Given the description of an element on the screen output the (x, y) to click on. 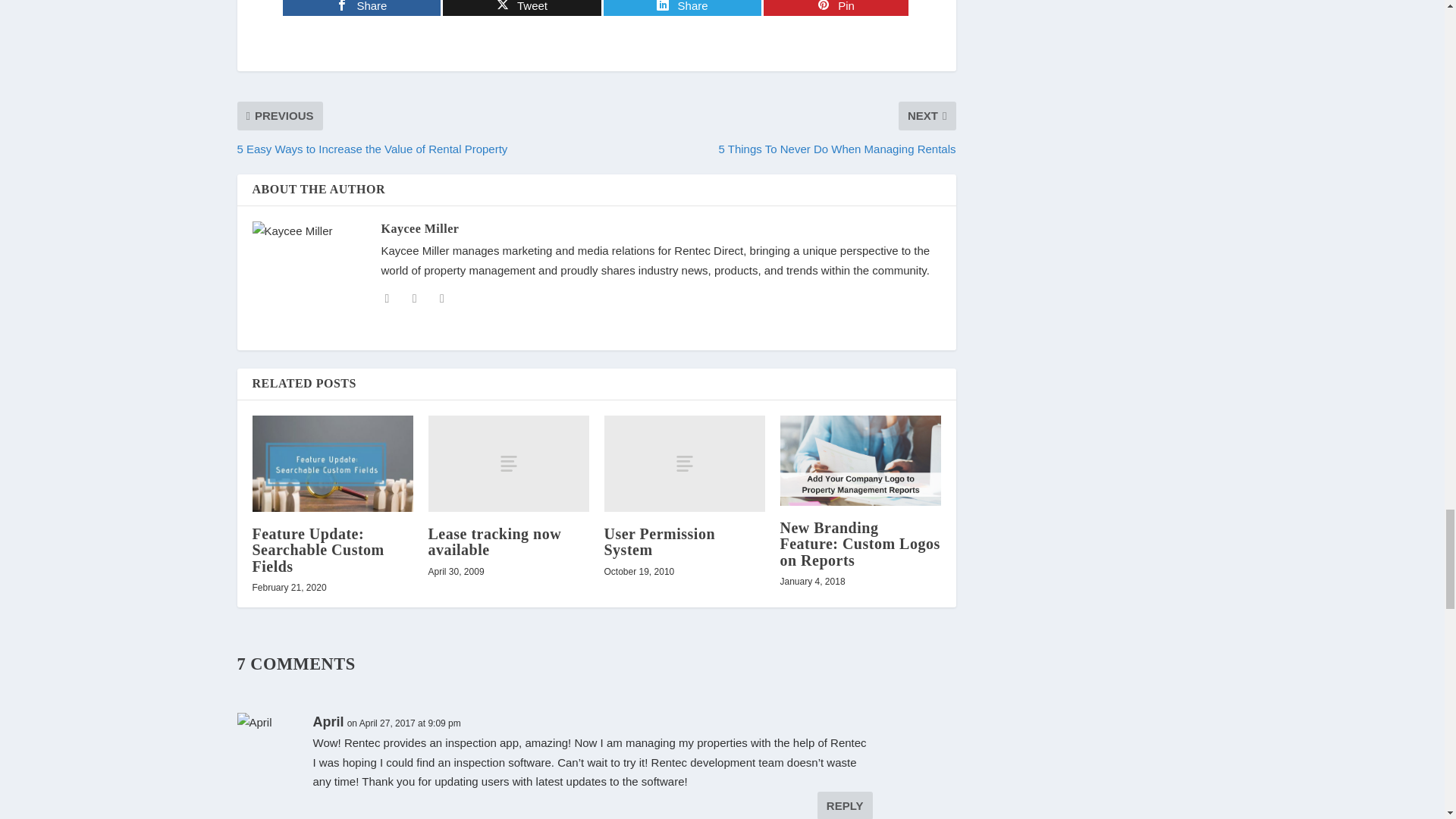
Lease tracking now available (508, 463)
View all posts by Kaycee Miller (419, 228)
New Branding Feature: Custom Logos on Reports (859, 460)
User Permission System (684, 463)
Feature Update: Searchable Custom Fields (331, 463)
